Given the description of an element on the screen output the (x, y) to click on. 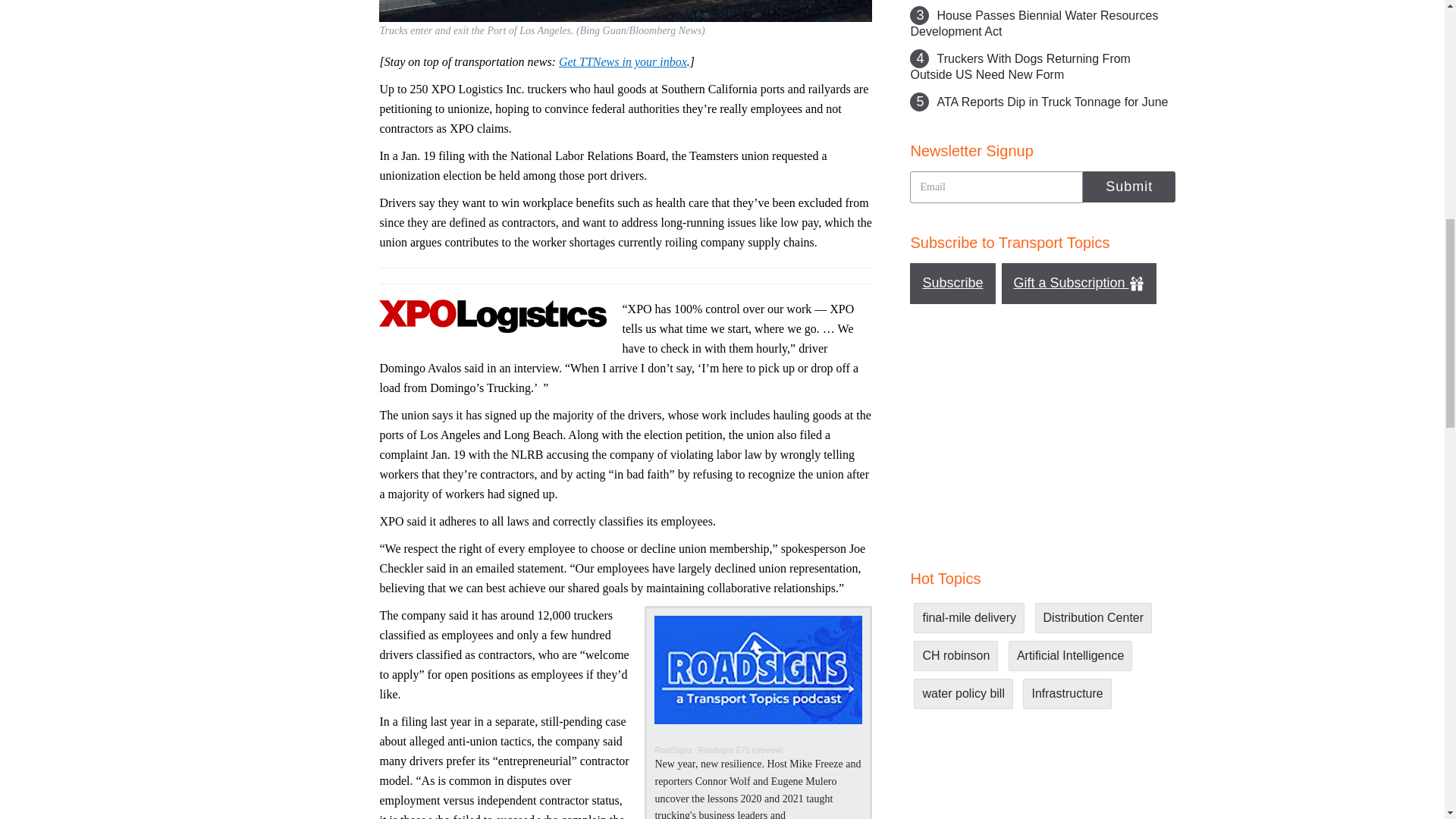
RoadSigns (672, 750)
XPO Logistics Port Truckers Seek to Unionize (625, 11)
